Given the description of an element on the screen output the (x, y) to click on. 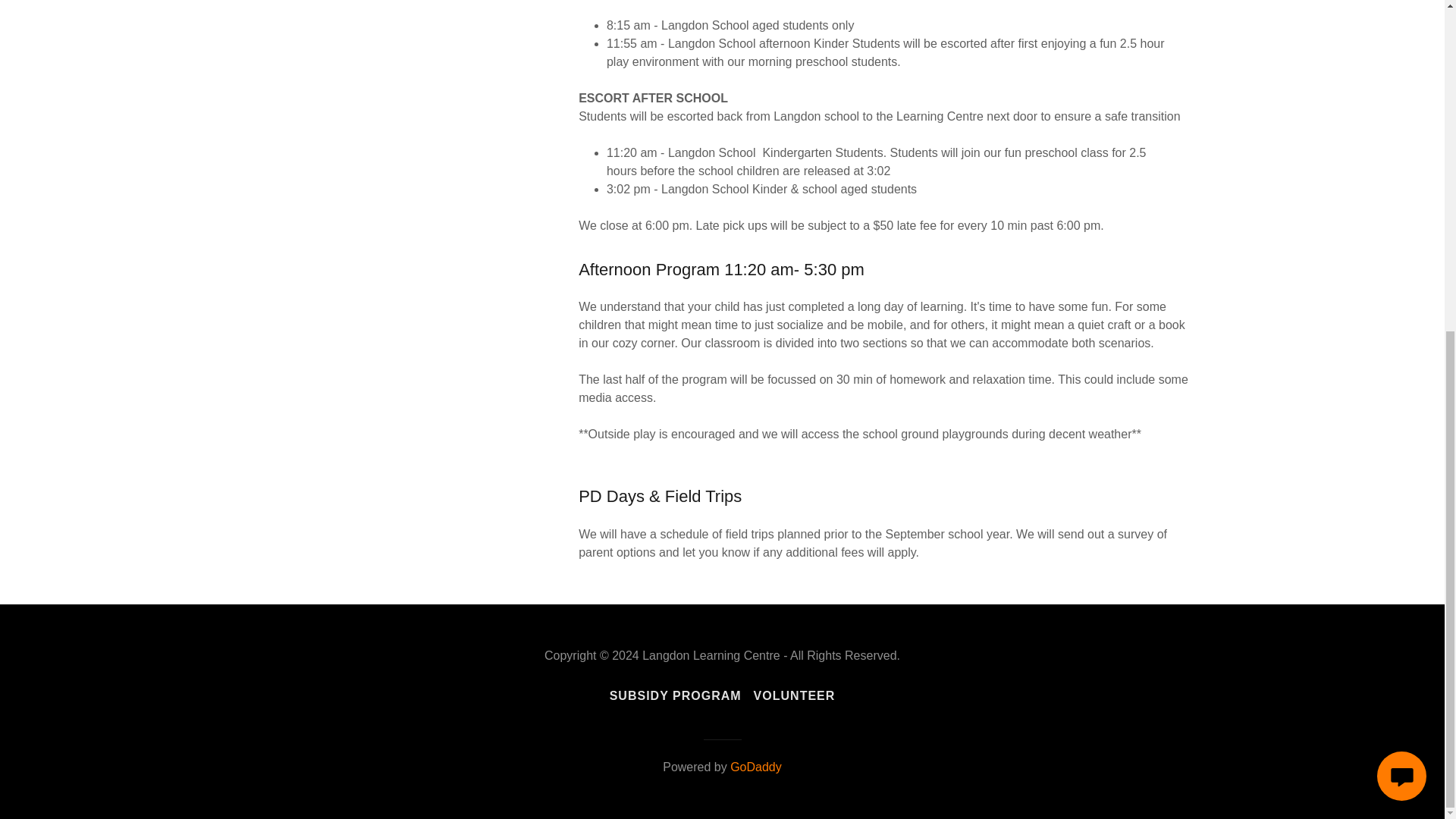
GoDaddy (755, 766)
SUBSIDY PROGRAM (676, 696)
VOLUNTEER (794, 696)
